Given the description of an element on the screen output the (x, y) to click on. 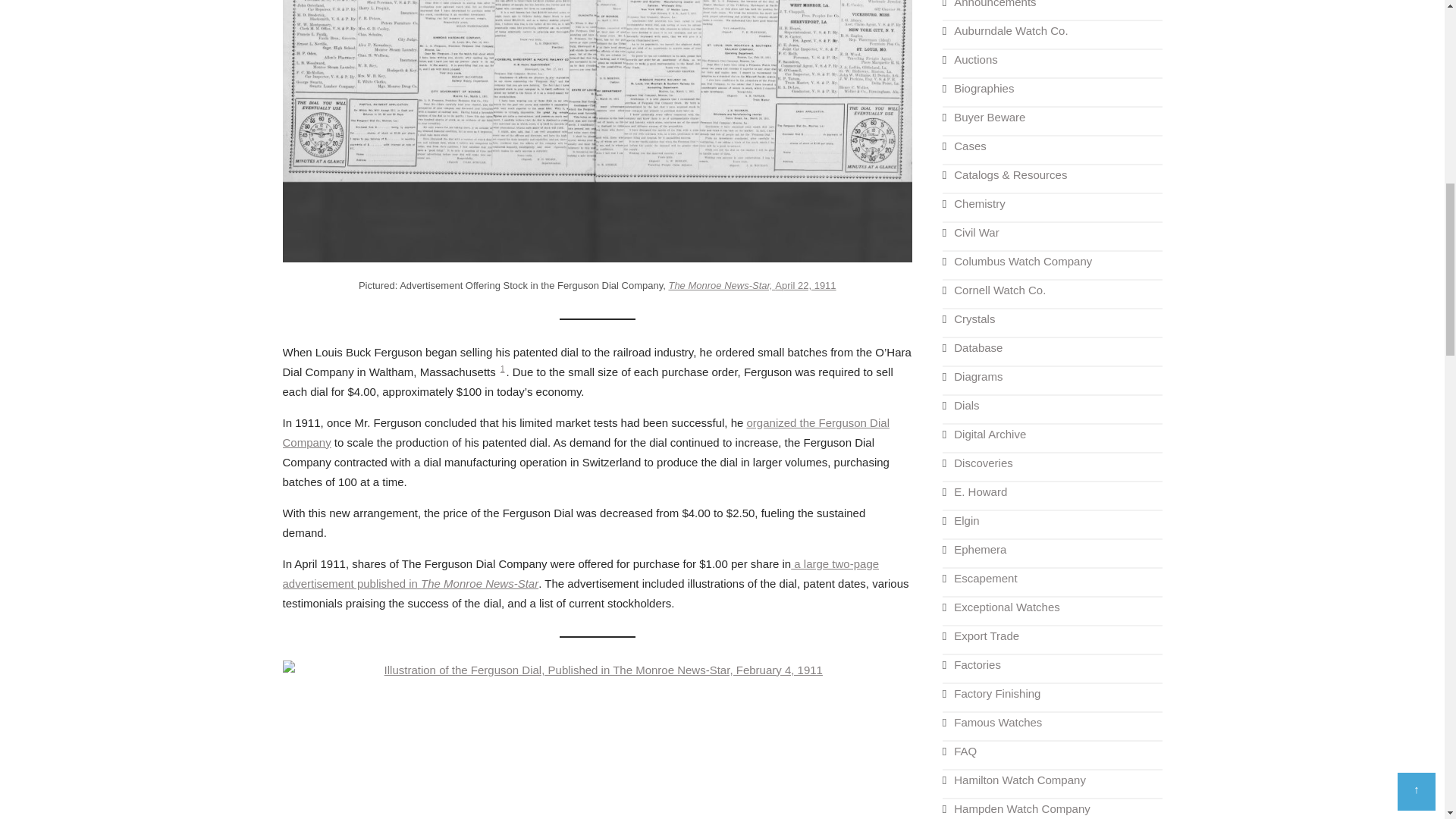
The Monroe News-Star, April 22, 1911 (751, 285)
organized the Ferguson Dial Company (585, 432)
